Given the description of an element on the screen output the (x, y) to click on. 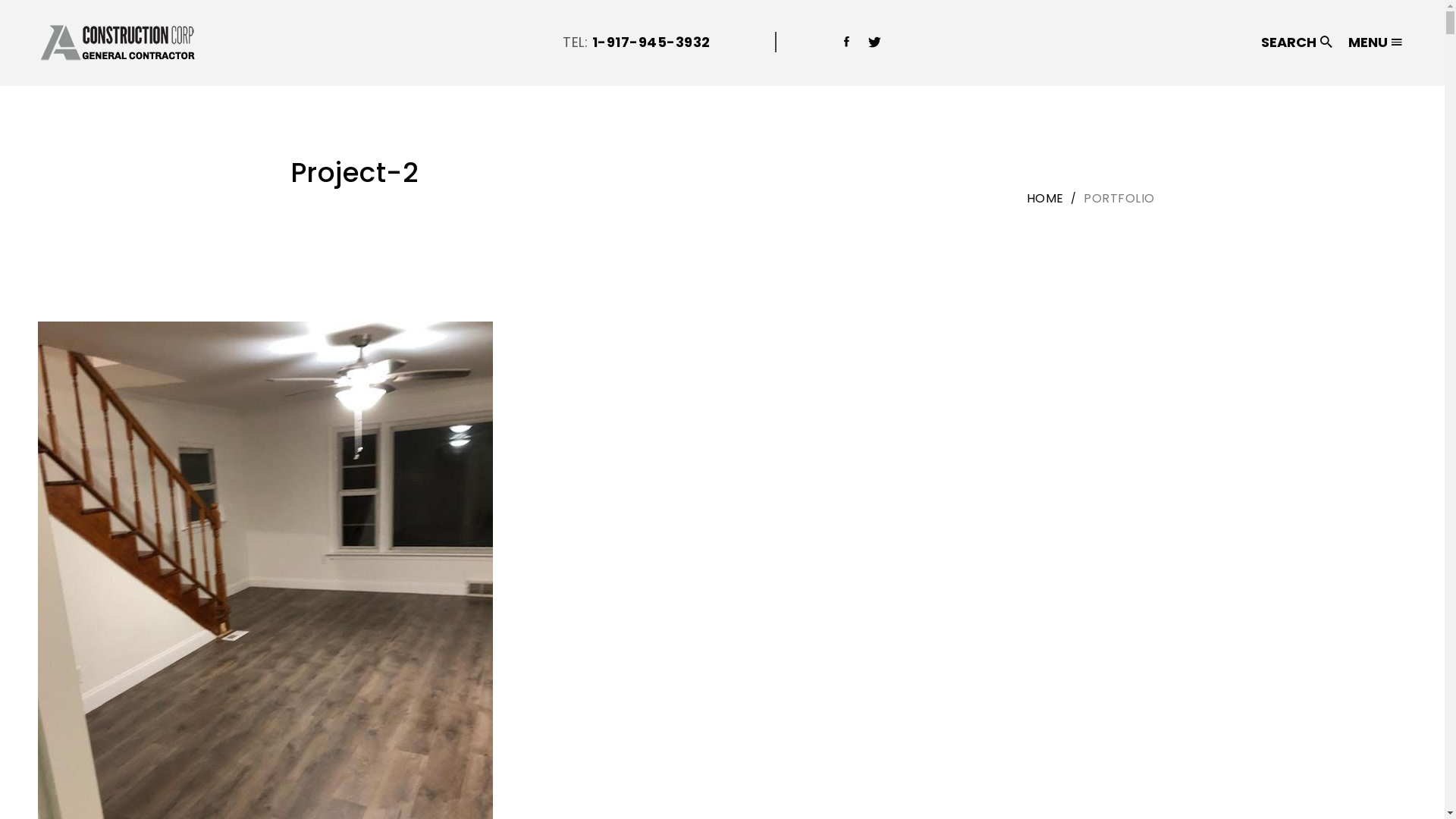
HOME Element type: text (1044, 198)
MENU Element type: text (1372, 42)
SEARCH Element type: text (1294, 42)
